Given the description of an element on the screen output the (x, y) to click on. 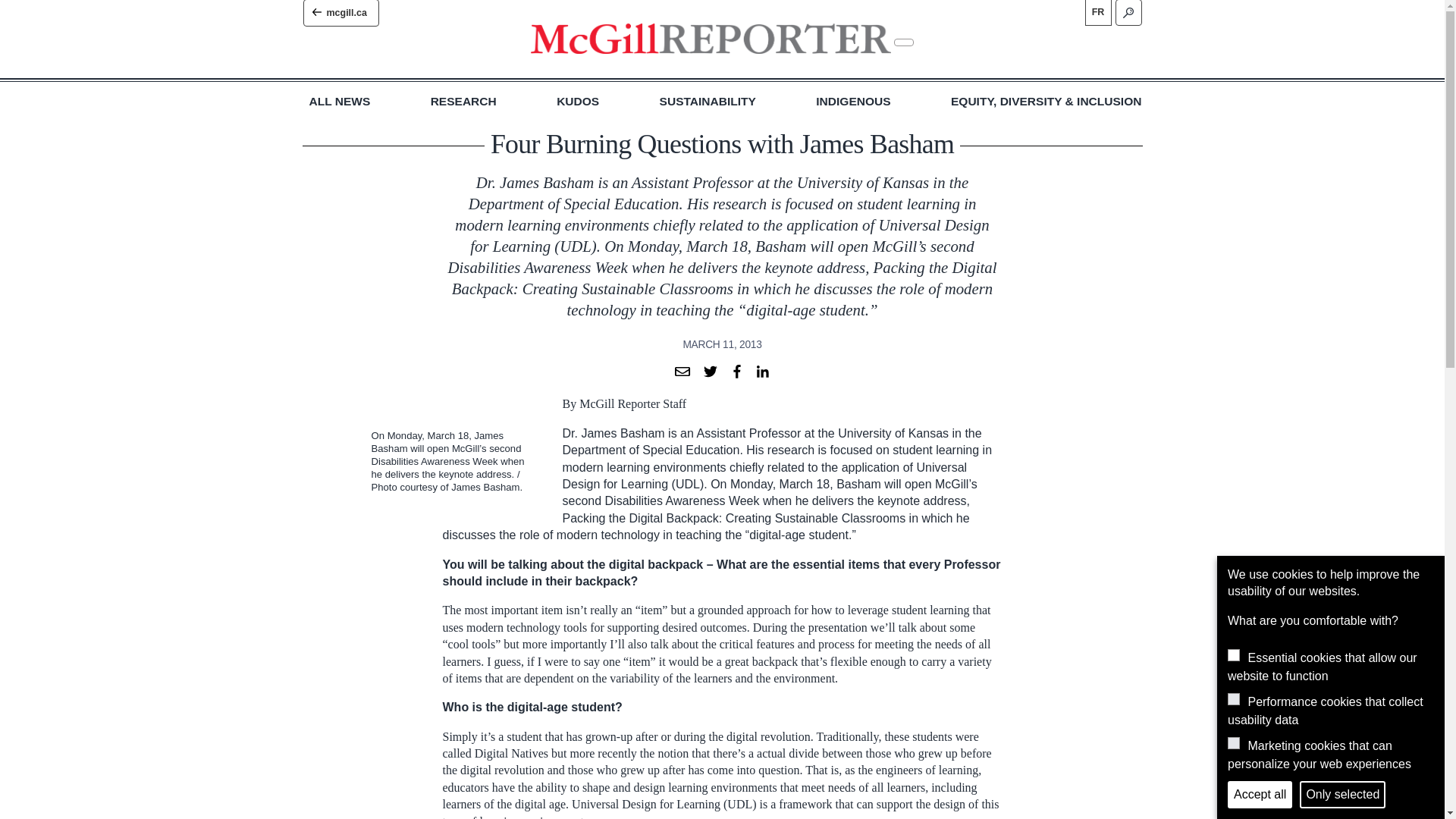
ALL NEWS (339, 101)
required (1233, 654)
KUDOS (576, 101)
SUSTAINABILITY (707, 101)
INDIGENOUS (852, 101)
marketing (1233, 743)
performance (1233, 698)
FR (1097, 12)
RESEARCH (463, 101)
mcgill.ca (340, 13)
